Given the description of an element on the screen output the (x, y) to click on. 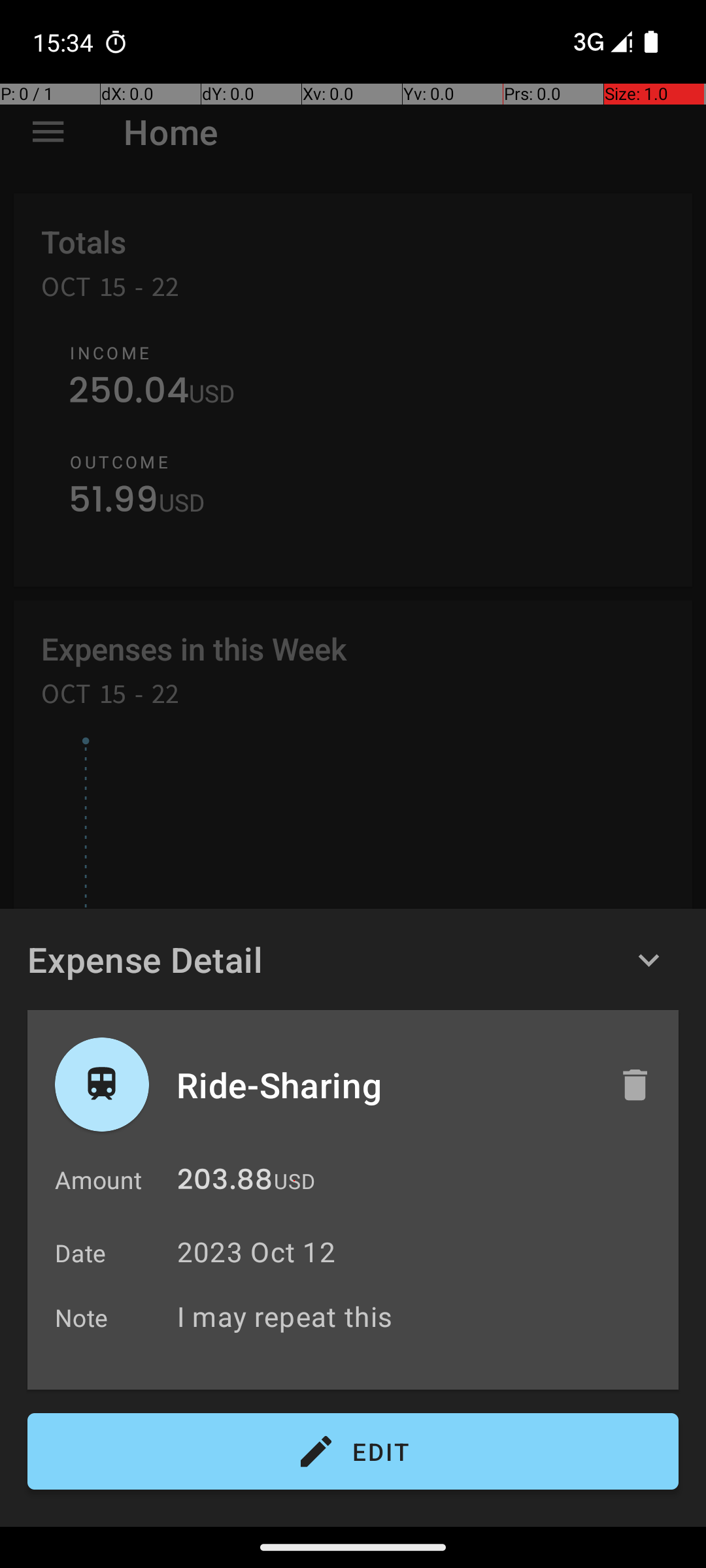
203.88 Element type: android.widget.TextView (224, 1182)
